Given the description of an element on the screen output the (x, y) to click on. 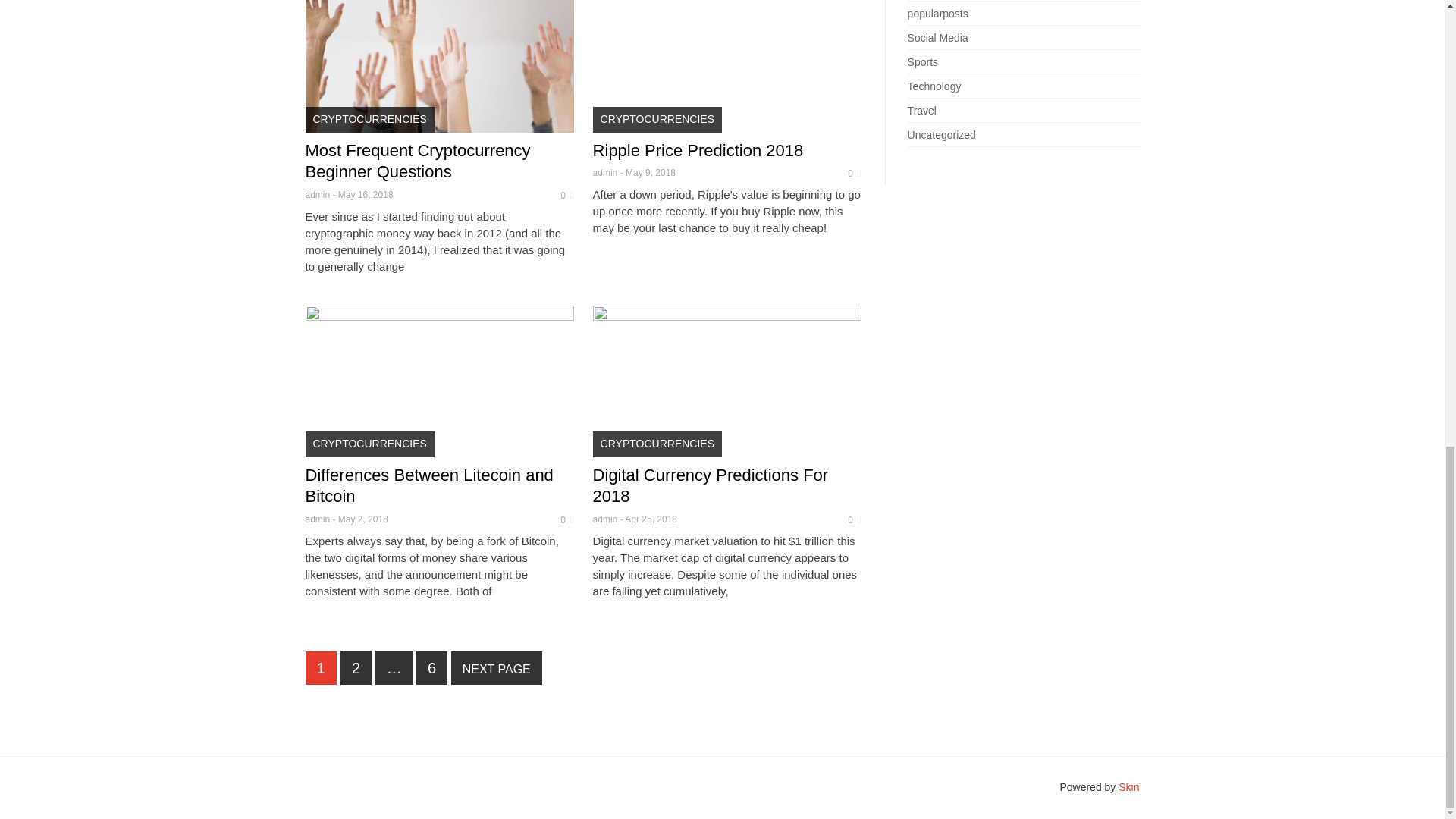
Permanent Link to Ripple Price Prediction 2018 (697, 149)
Posts by admin (317, 194)
Posts by admin (604, 172)
